Given the description of an element on the screen output the (x, y) to click on. 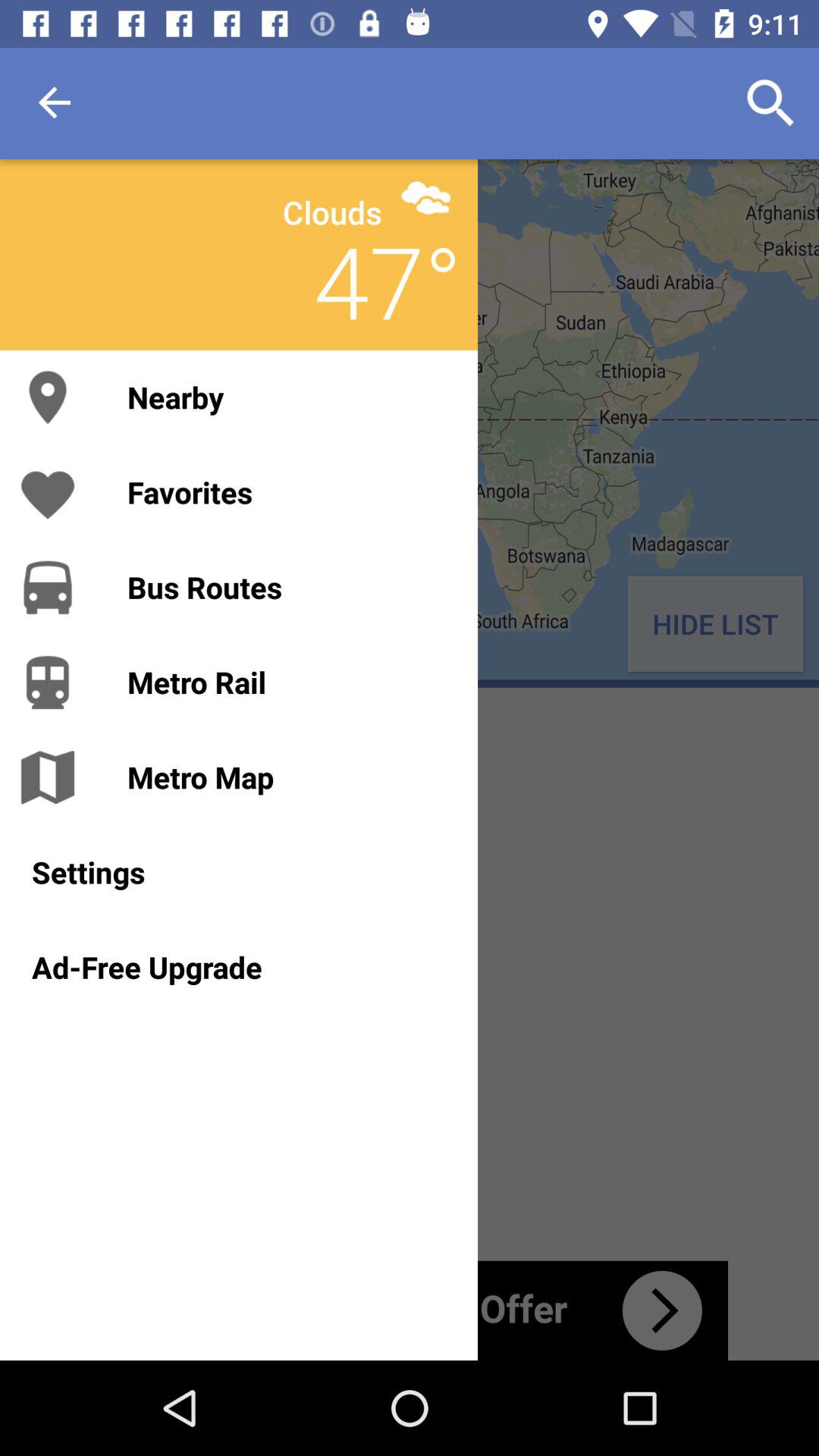
open the favorites (286, 492)
